Given the description of an element on the screen output the (x, y) to click on. 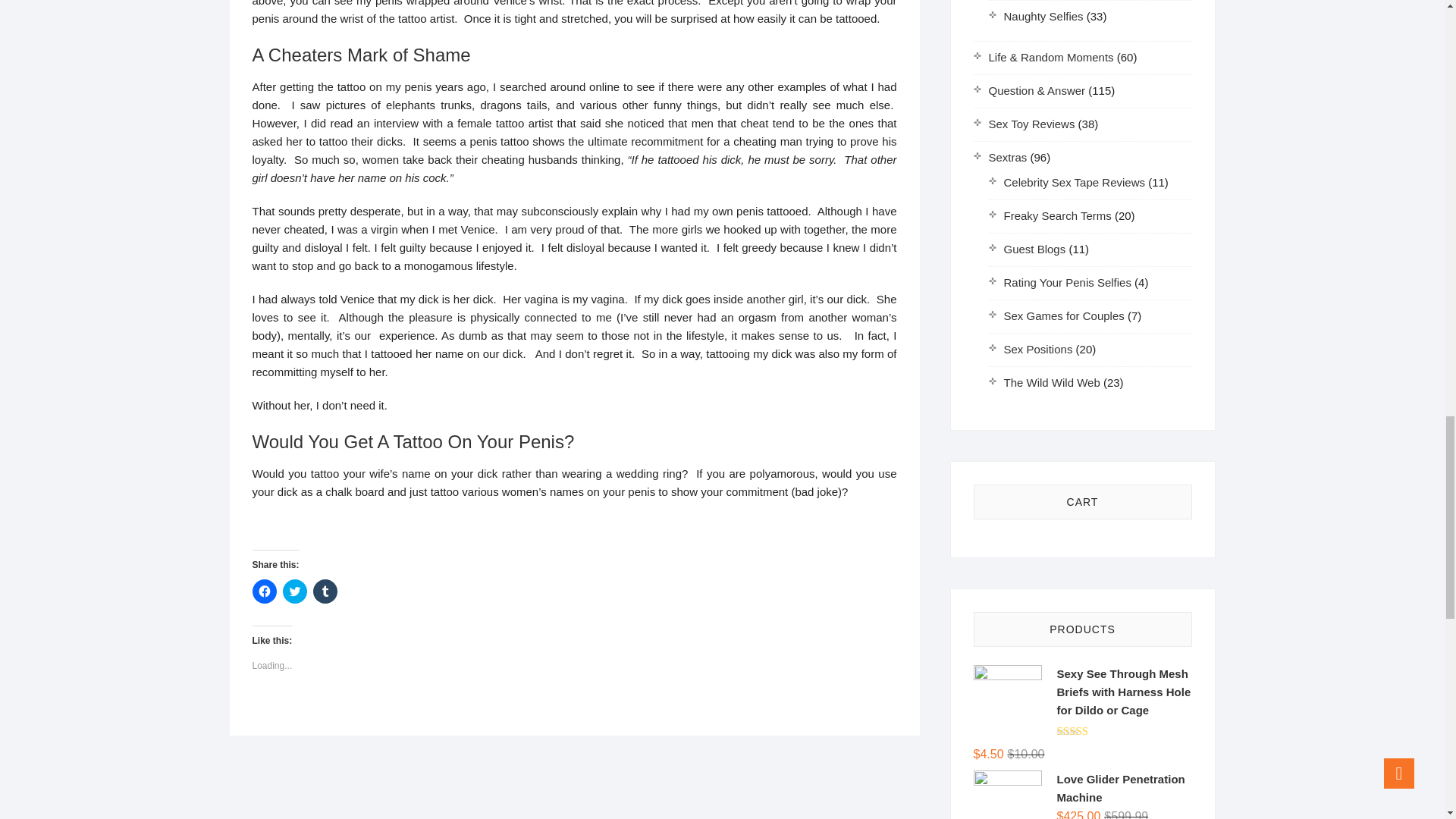
Click to share on Tumblr (324, 591)
Click to share on Twitter (293, 591)
Click to share on Facebook (263, 591)
